Given the description of an element on the screen output the (x, y) to click on. 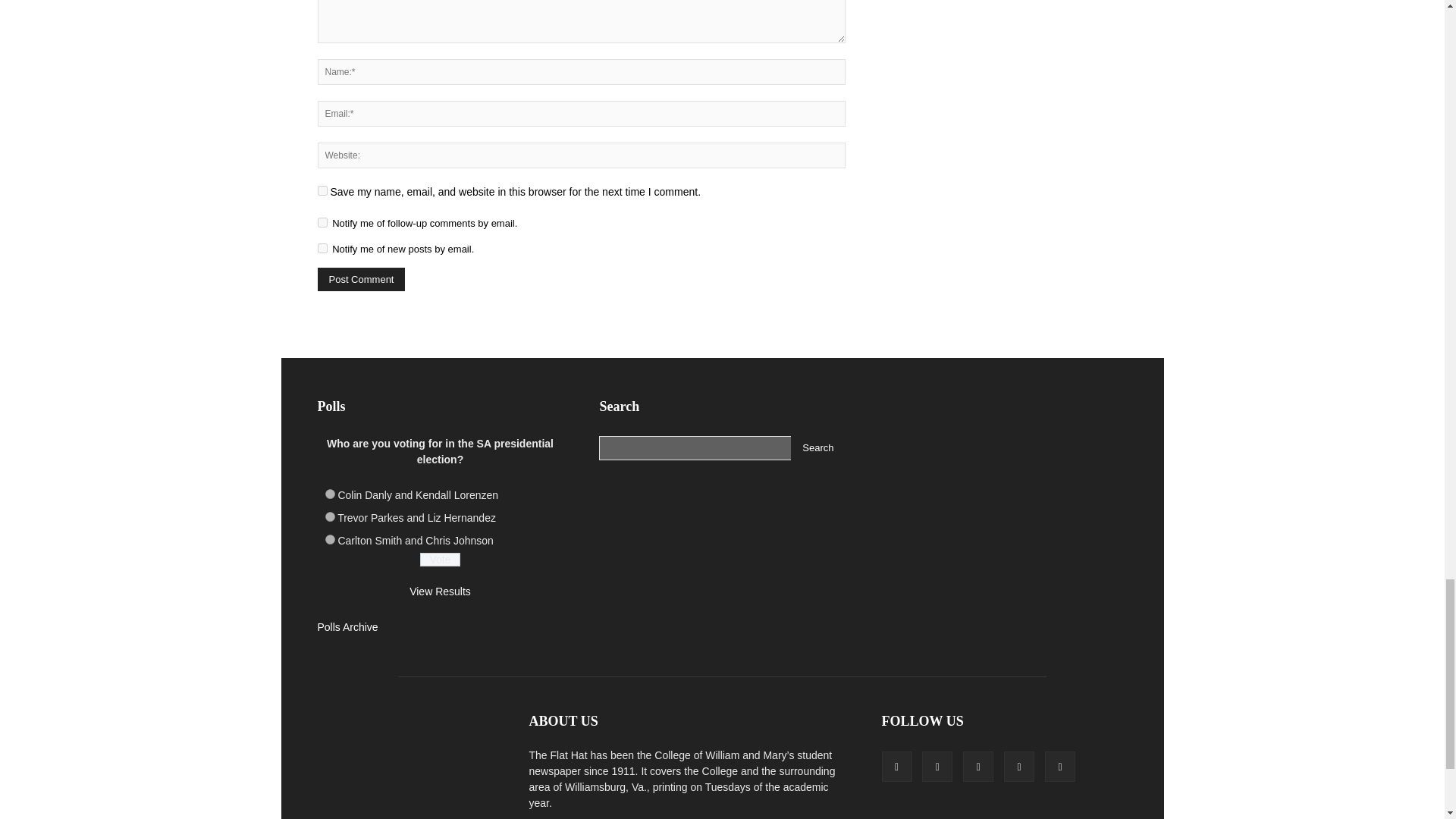
104 (329, 493)
105 (329, 516)
106 (329, 539)
subscribe (321, 222)
Search (817, 447)
   Vote    (440, 559)
Post Comment (360, 279)
subscribe (321, 248)
yes (321, 190)
